Given the description of an element on the screen output the (x, y) to click on. 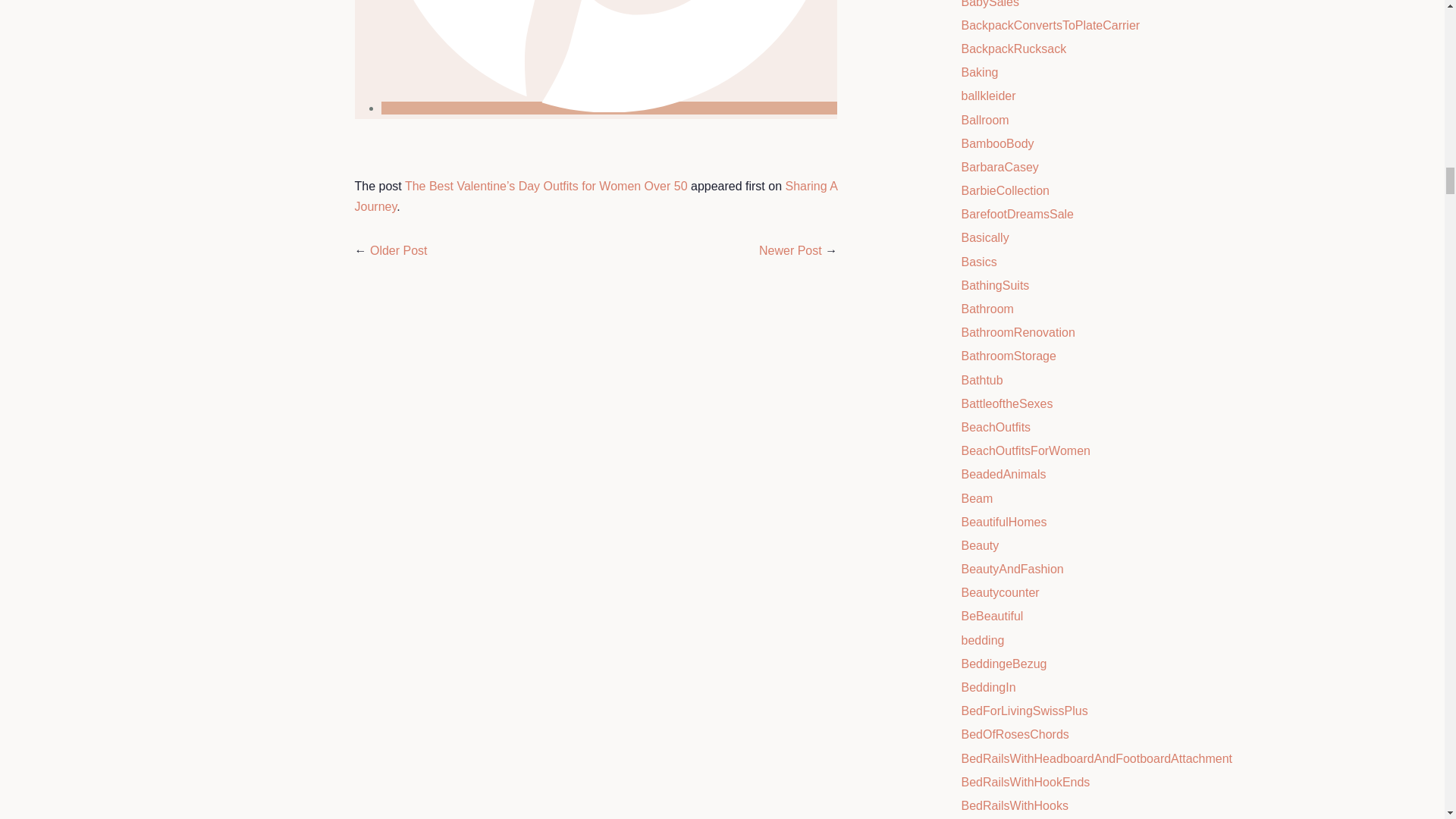
Sharing A Journey (596, 195)
Newer Post (790, 250)
Older Post (398, 250)
